Given the description of an element on the screen output the (x, y) to click on. 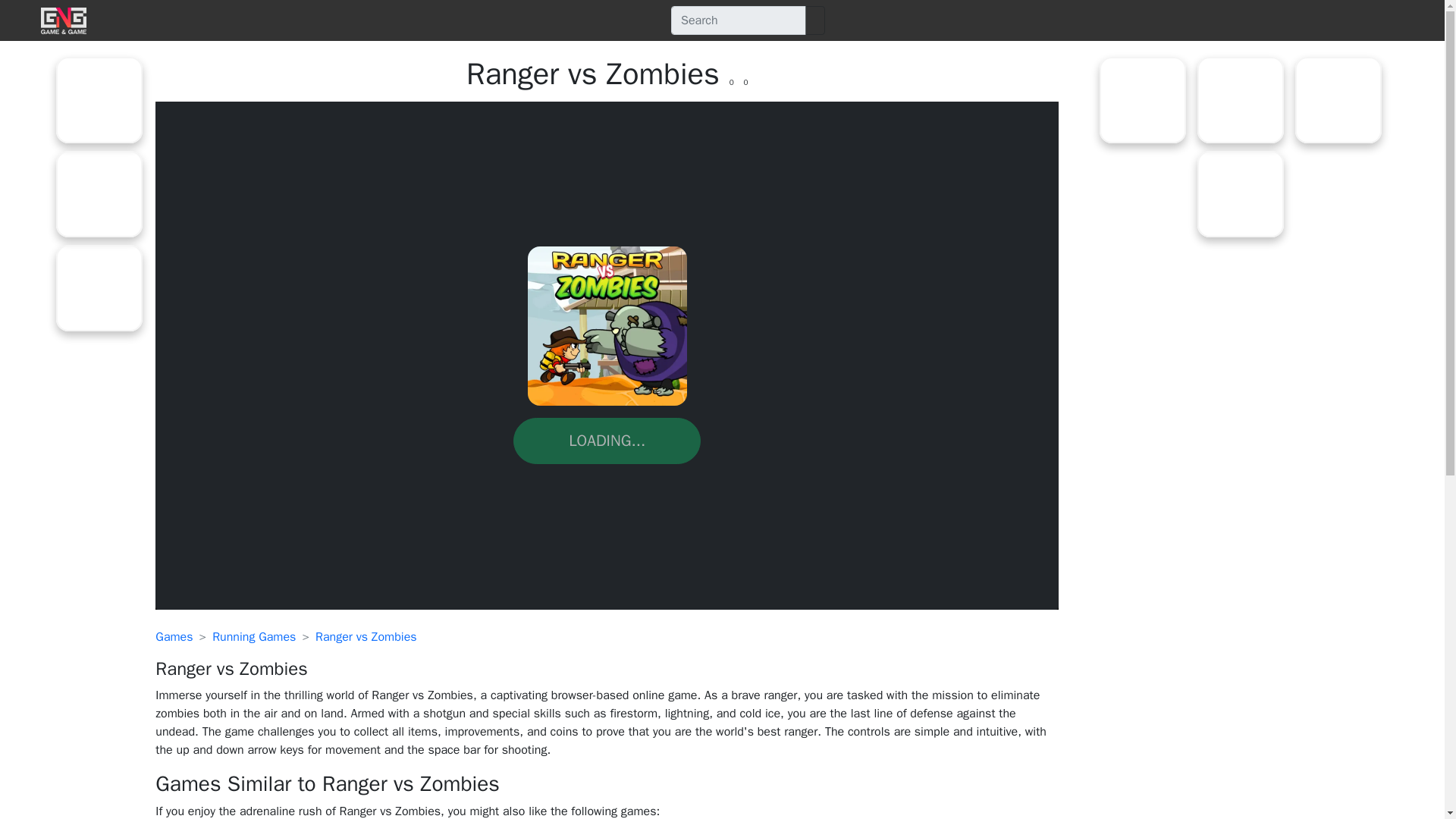
Ranger vs Zombies (365, 636)
LOADING... (606, 440)
EG Mad Shark (1240, 193)
Bad game! (745, 81)
Car Stunt Rider (99, 99)
Running Games (253, 636)
Brownies (99, 287)
Happy Valentines Day Coloring (1240, 99)
Noob vs Zombies (99, 193)
Good game! (731, 81)
Pet Trainer Duel (1338, 99)
Tris Gangsta Dolly Dress Up H5 (1142, 99)
Games (173, 636)
